Given the description of an element on the screen output the (x, y) to click on. 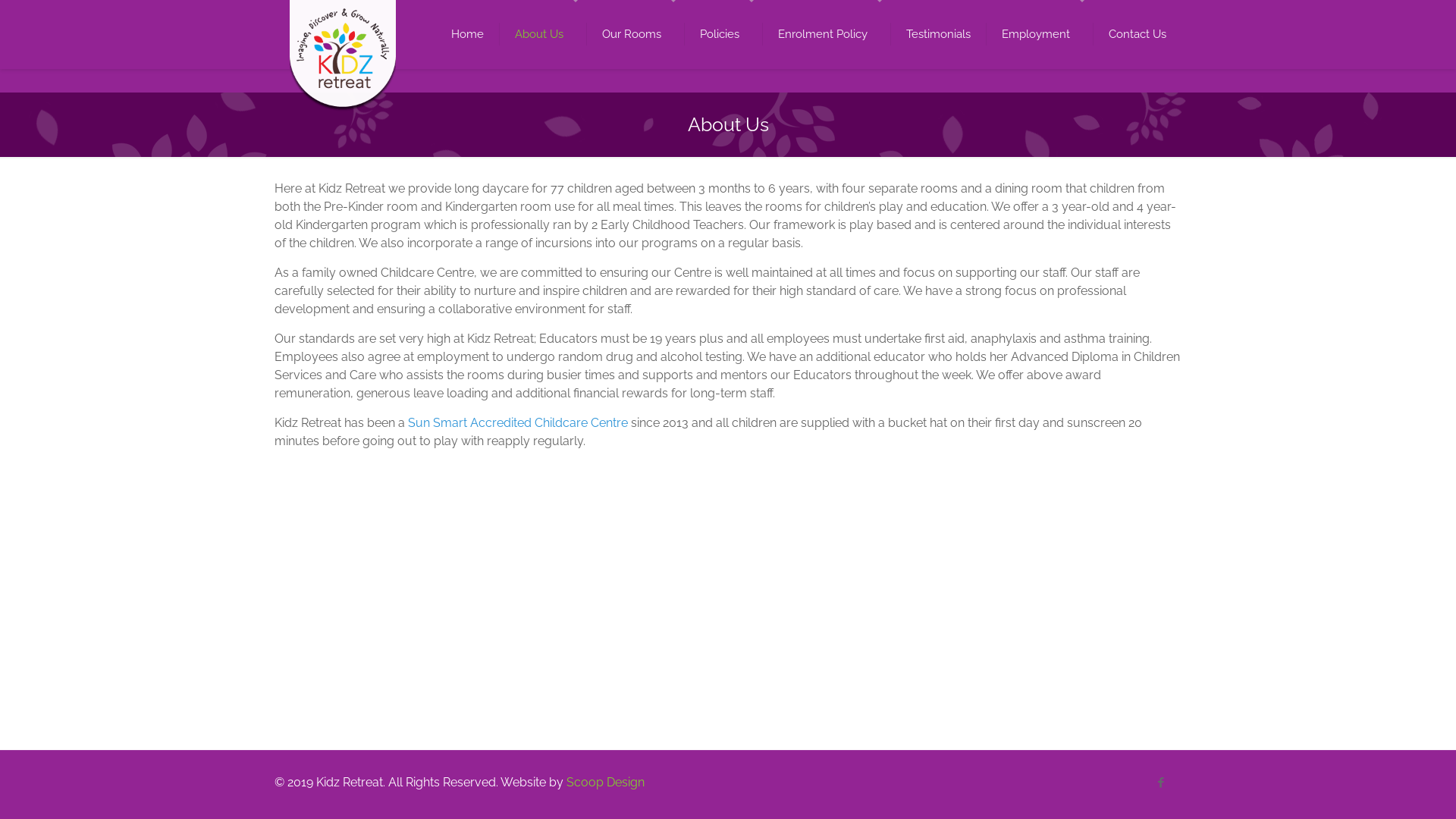
Scoop Design Element type: text (605, 782)
Facebook Element type: hover (1160, 782)
Contact Us Element type: text (1137, 34)
Our Rooms Element type: text (635, 34)
About Us Element type: text (542, 34)
Home Element type: text (467, 34)
Kidz Retreat Element type: hover (342, 22)
Employment Element type: text (1039, 34)
Policies Element type: text (723, 34)
Enrolment Policy Element type: text (826, 34)
Testimonials Element type: text (938, 34)
Sun Smart Accredited Childcare Centre Element type: text (517, 422)
